Given the description of an element on the screen output the (x, y) to click on. 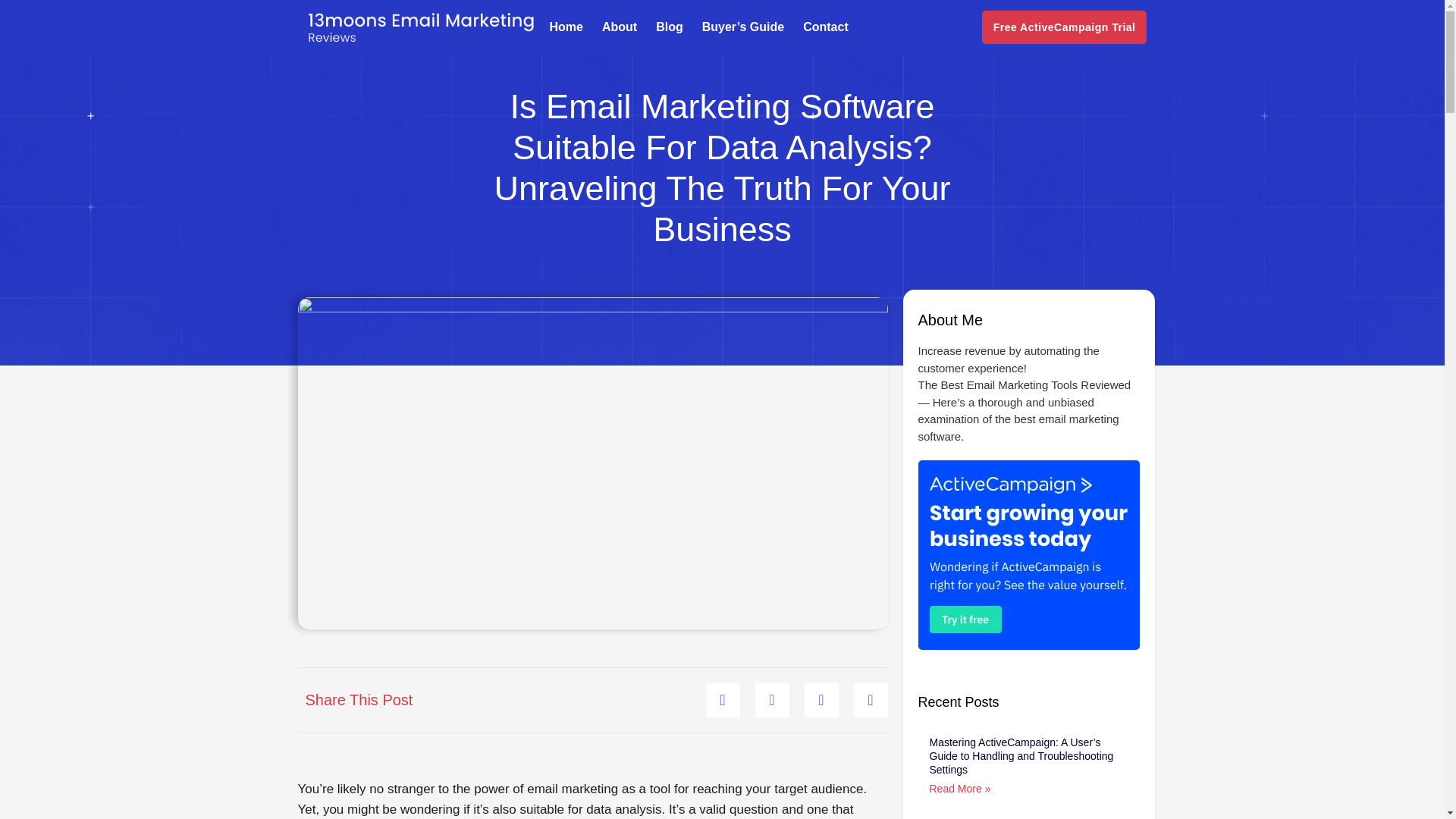
Free ActiveCampaign Trial (1064, 27)
